Given the description of an element on the screen output the (x, y) to click on. 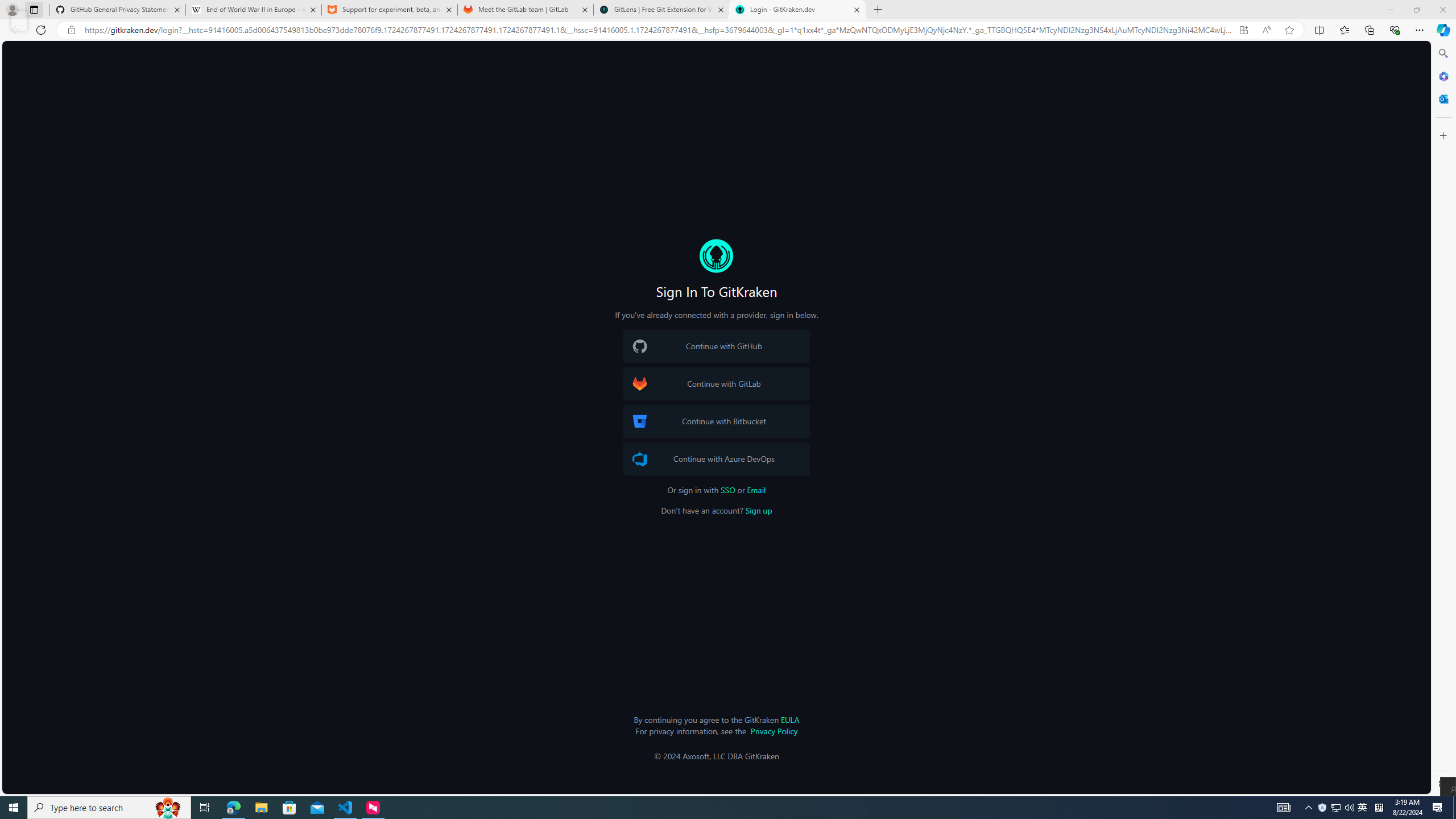
GitHub General Privacy Statement - GitHub Docs (117, 9)
SSO (727, 489)
Bitbucket Logo Continue with Bitbucket (716, 421)
Azure DevOps Logo Continue with Azure DevOps (716, 458)
GitLab Logo Continue with GitLab (716, 383)
End of World War II in Europe - Wikipedia (253, 9)
Meet the GitLab team | GitLab (525, 9)
